Given the description of an element on the screen output the (x, y) to click on. 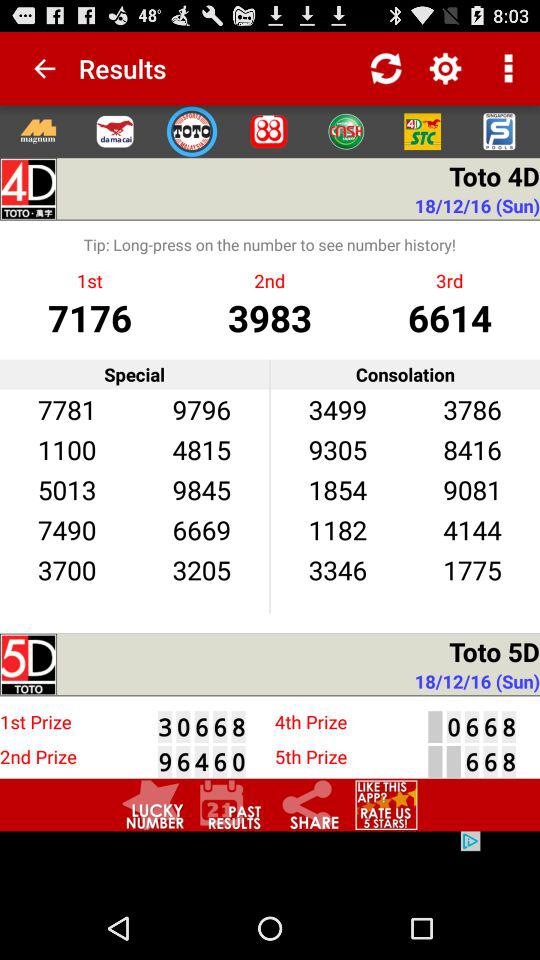
tap icon next to 4815 icon (66, 489)
